Given the description of an element on the screen output the (x, y) to click on. 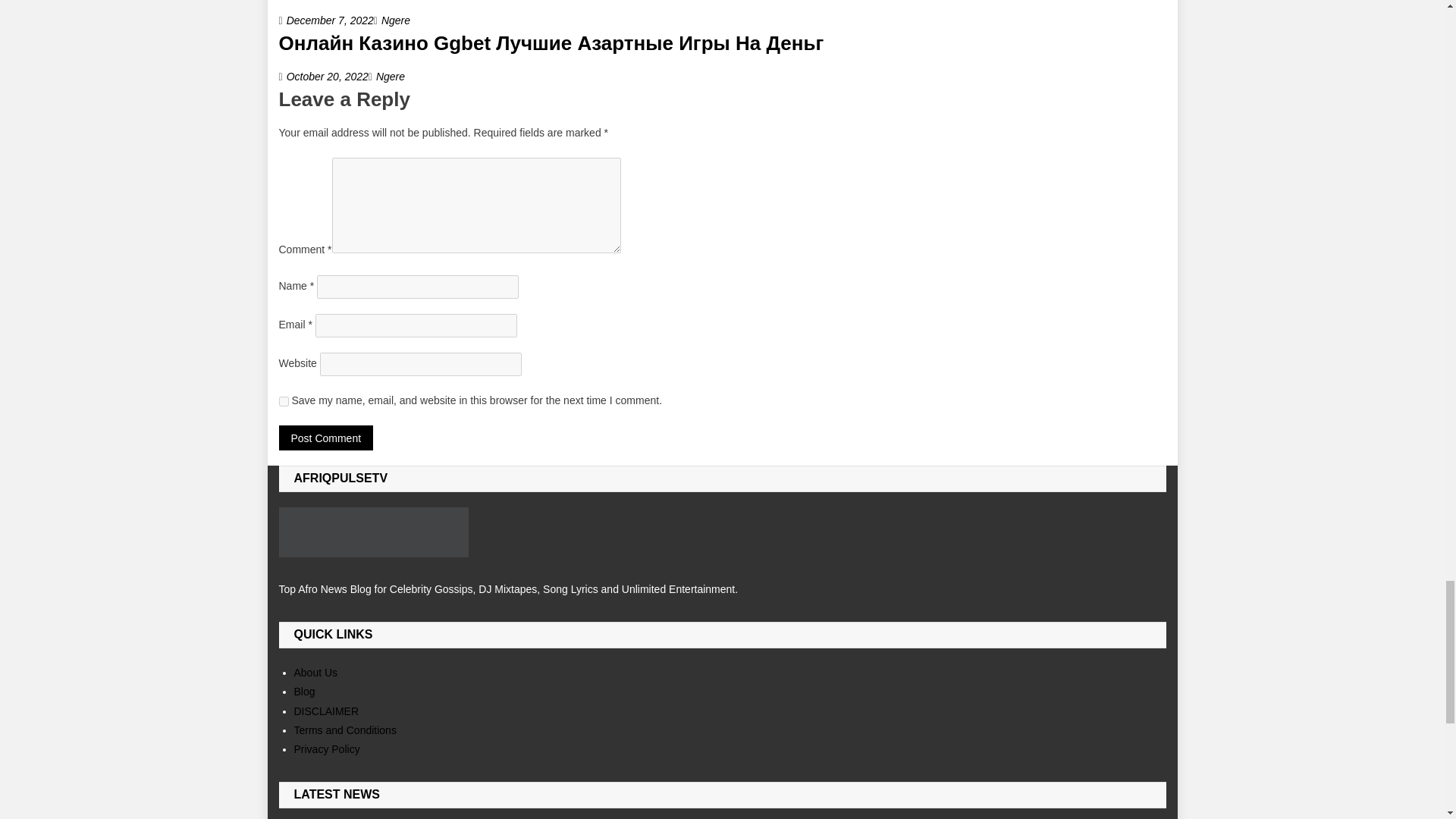
Post Comment (326, 437)
yes (283, 401)
